Given the description of an element on the screen output the (x, y) to click on. 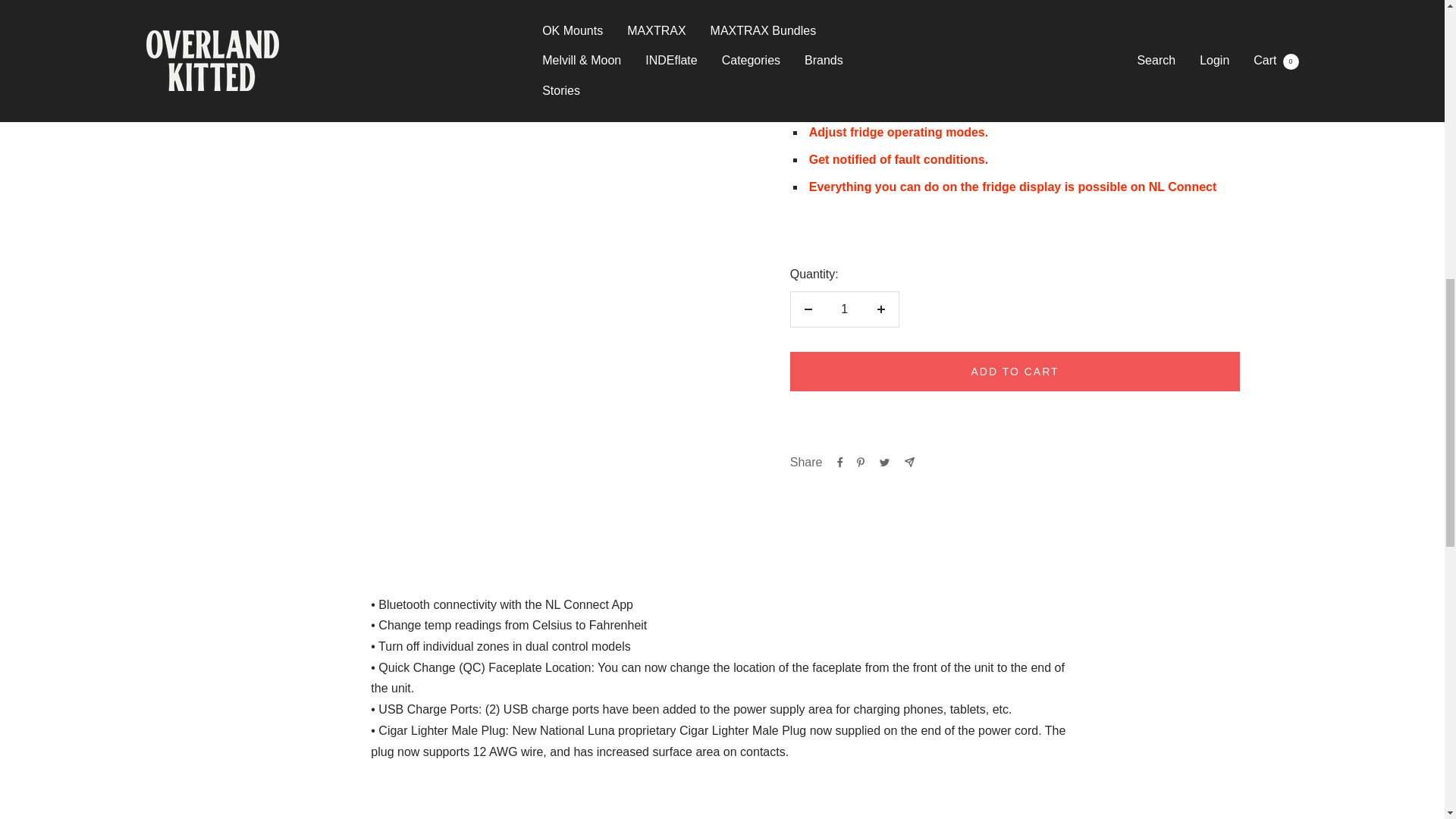
1 (844, 308)
